Given the description of an element on the screen output the (x, y) to click on. 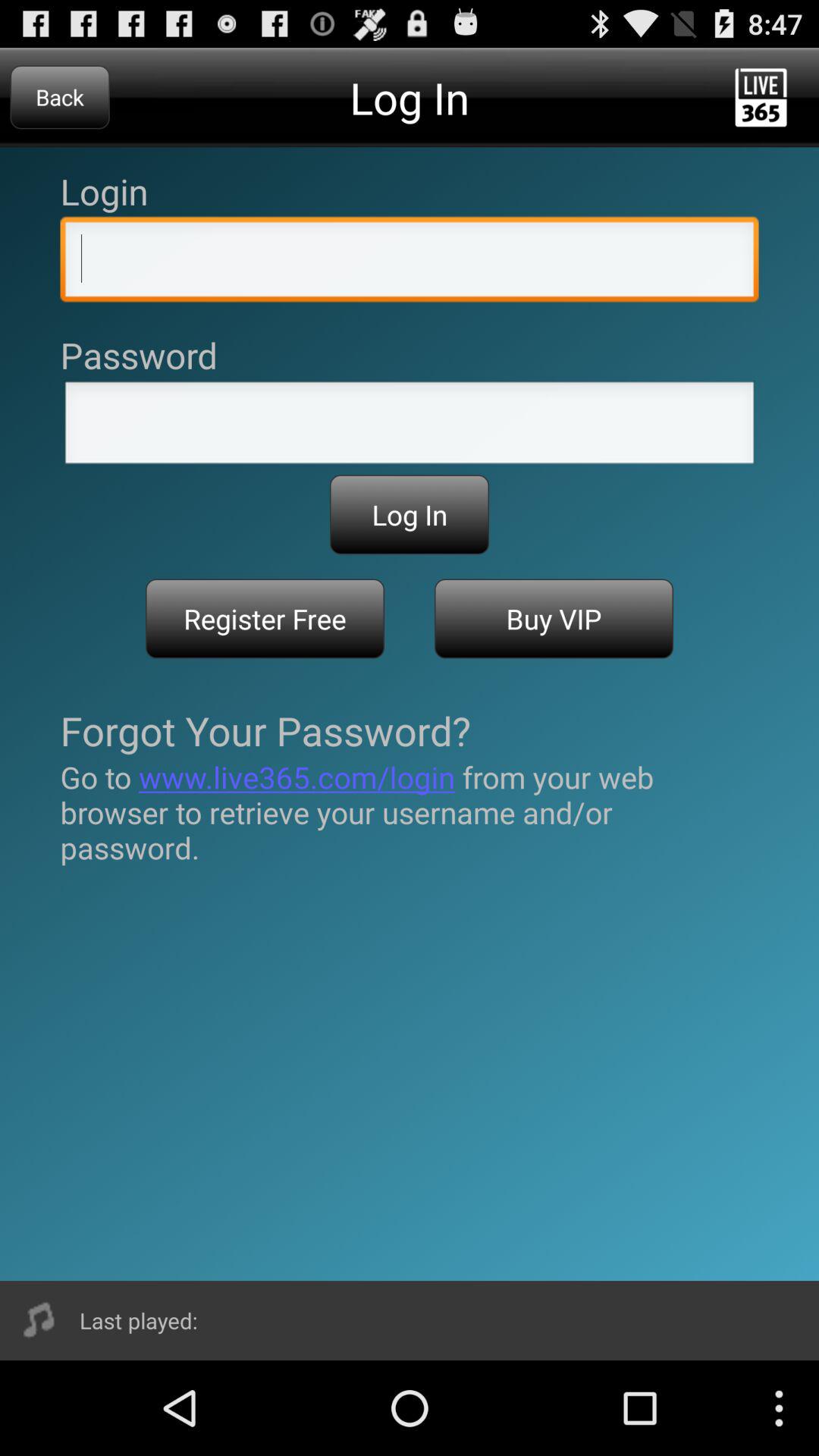
turn on the icon above forgot your password? (553, 618)
